Given the description of an element on the screen output the (x, y) to click on. 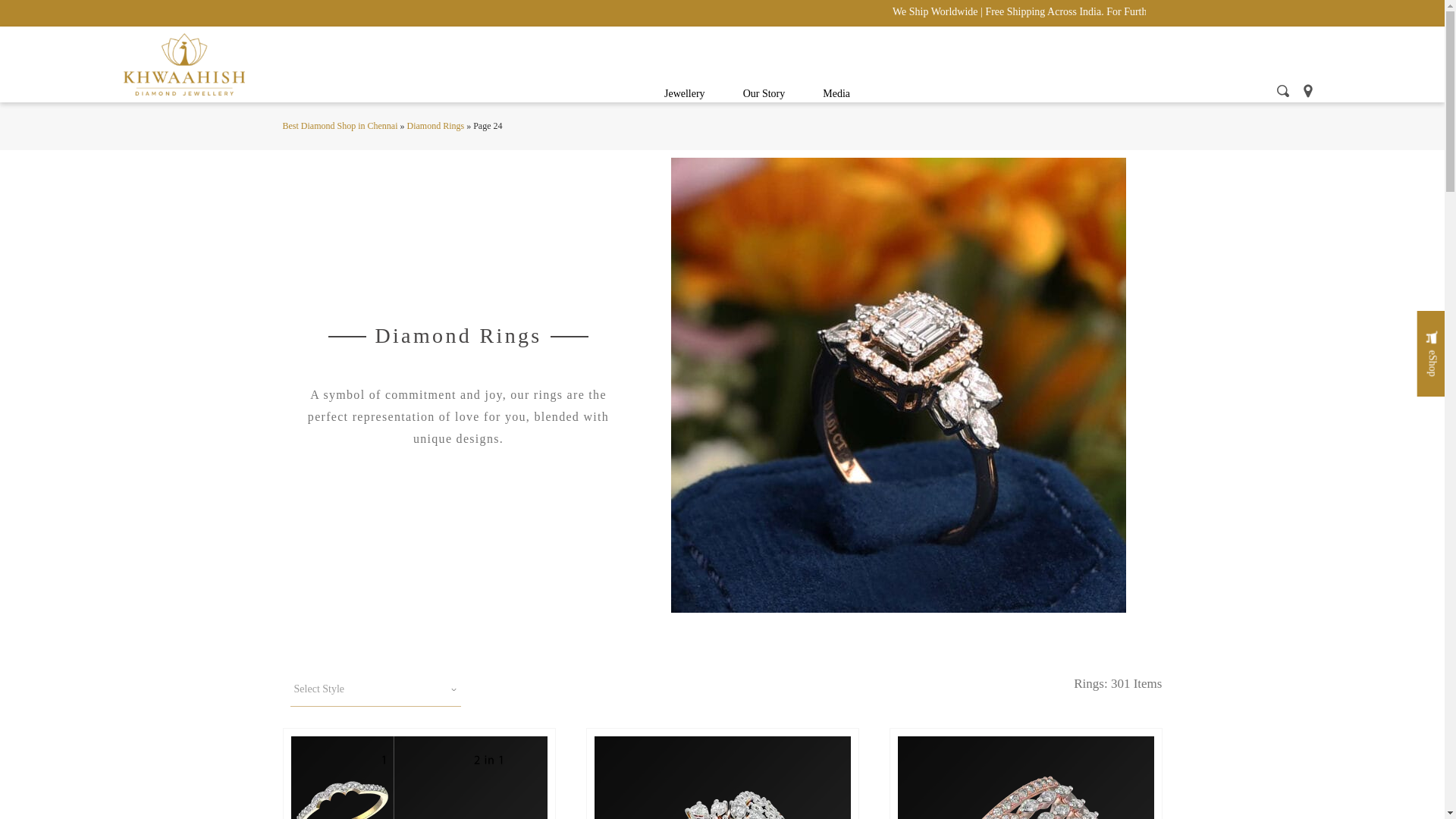
Media (836, 93)
Our Story (764, 93)
Jewellery (683, 93)
